Given the description of an element on the screen output the (x, y) to click on. 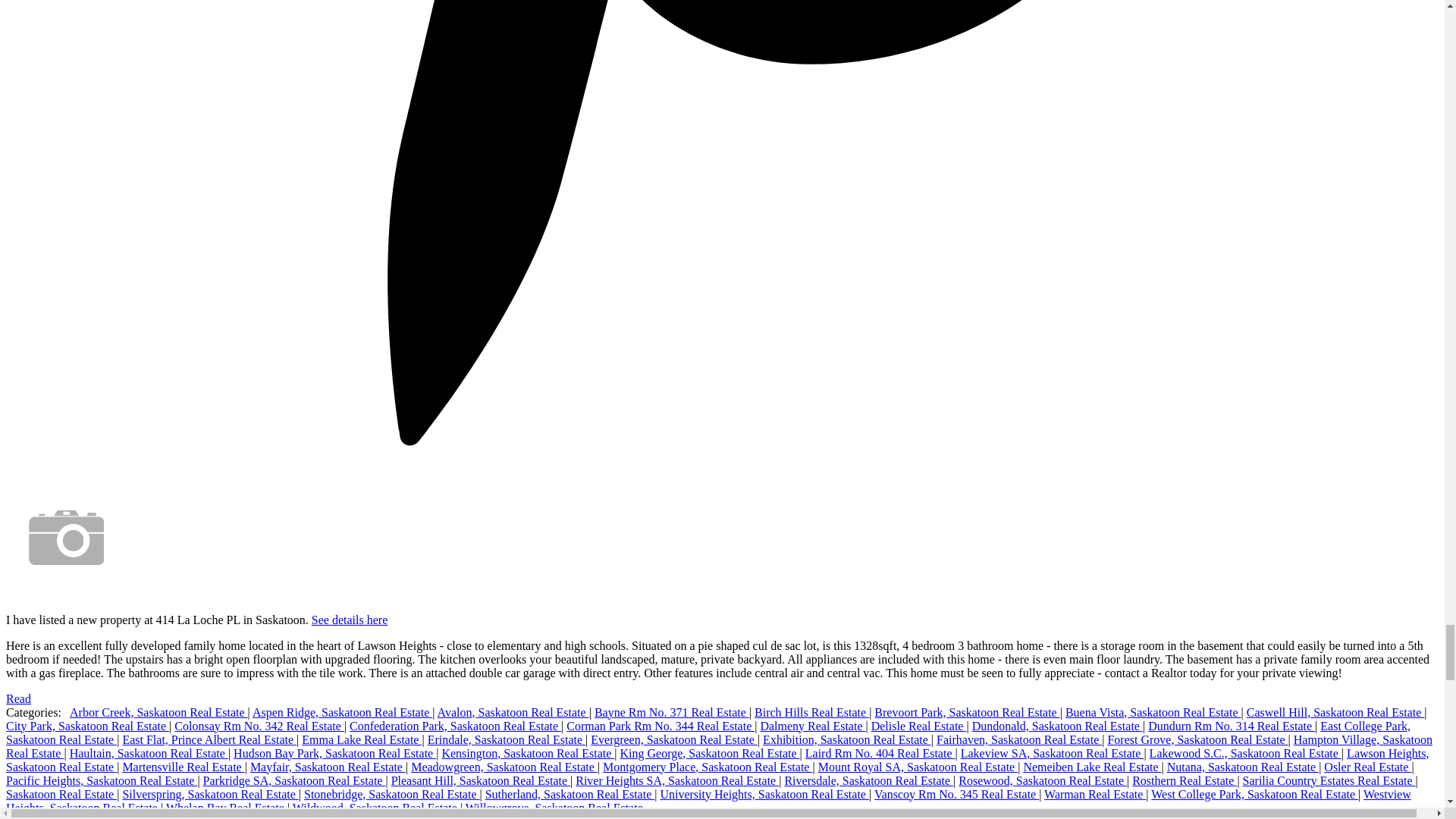
See details here (349, 619)
Read (17, 698)
